Given the description of an element on the screen output the (x, y) to click on. 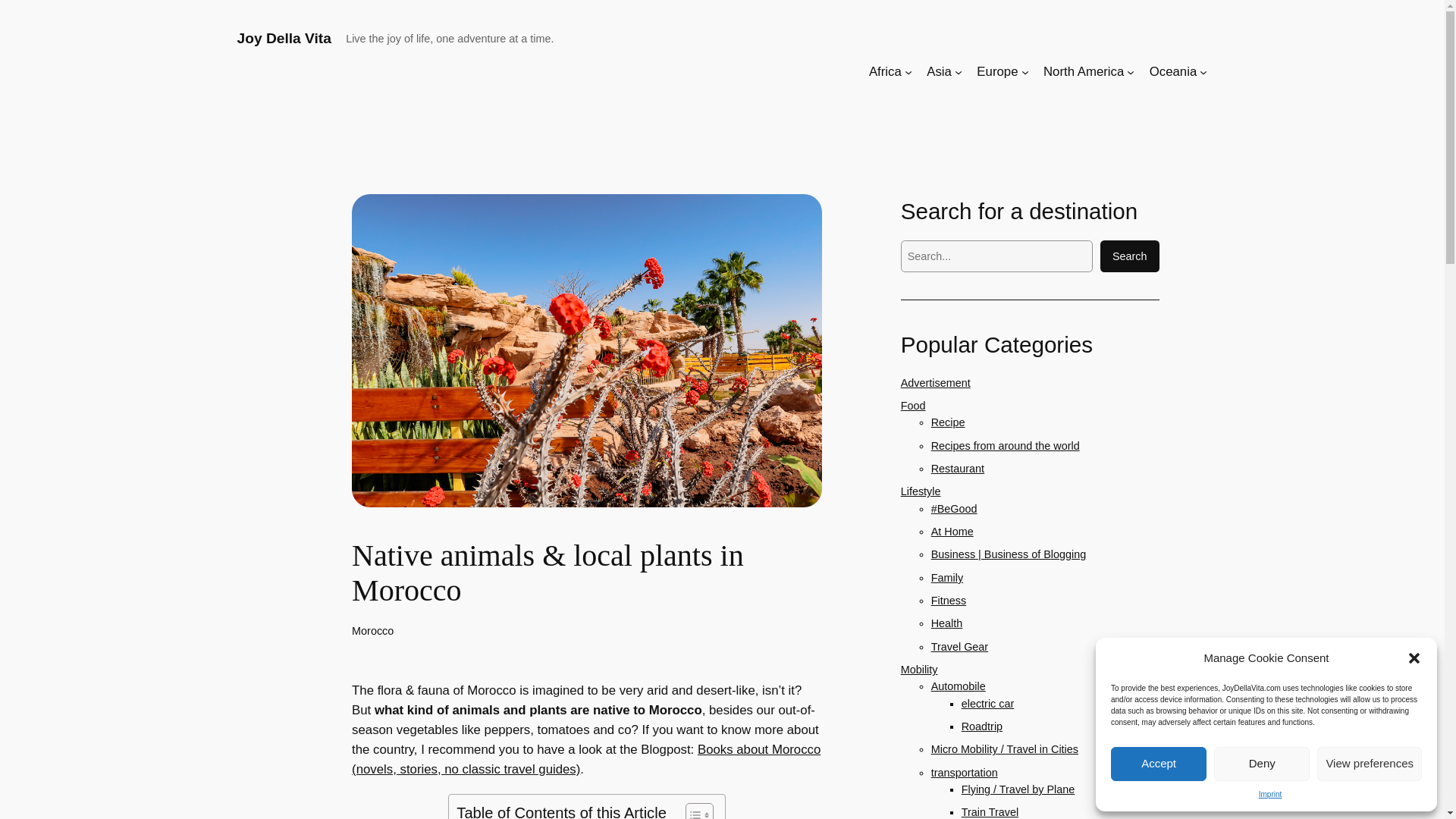
View preferences (1369, 763)
Deny (1261, 763)
Accept (1158, 763)
Africa (885, 71)
Imprint (1270, 794)
Asia (939, 71)
Europe (996, 71)
Joy Della Vita (282, 37)
